Given the description of an element on the screen output the (x, y) to click on. 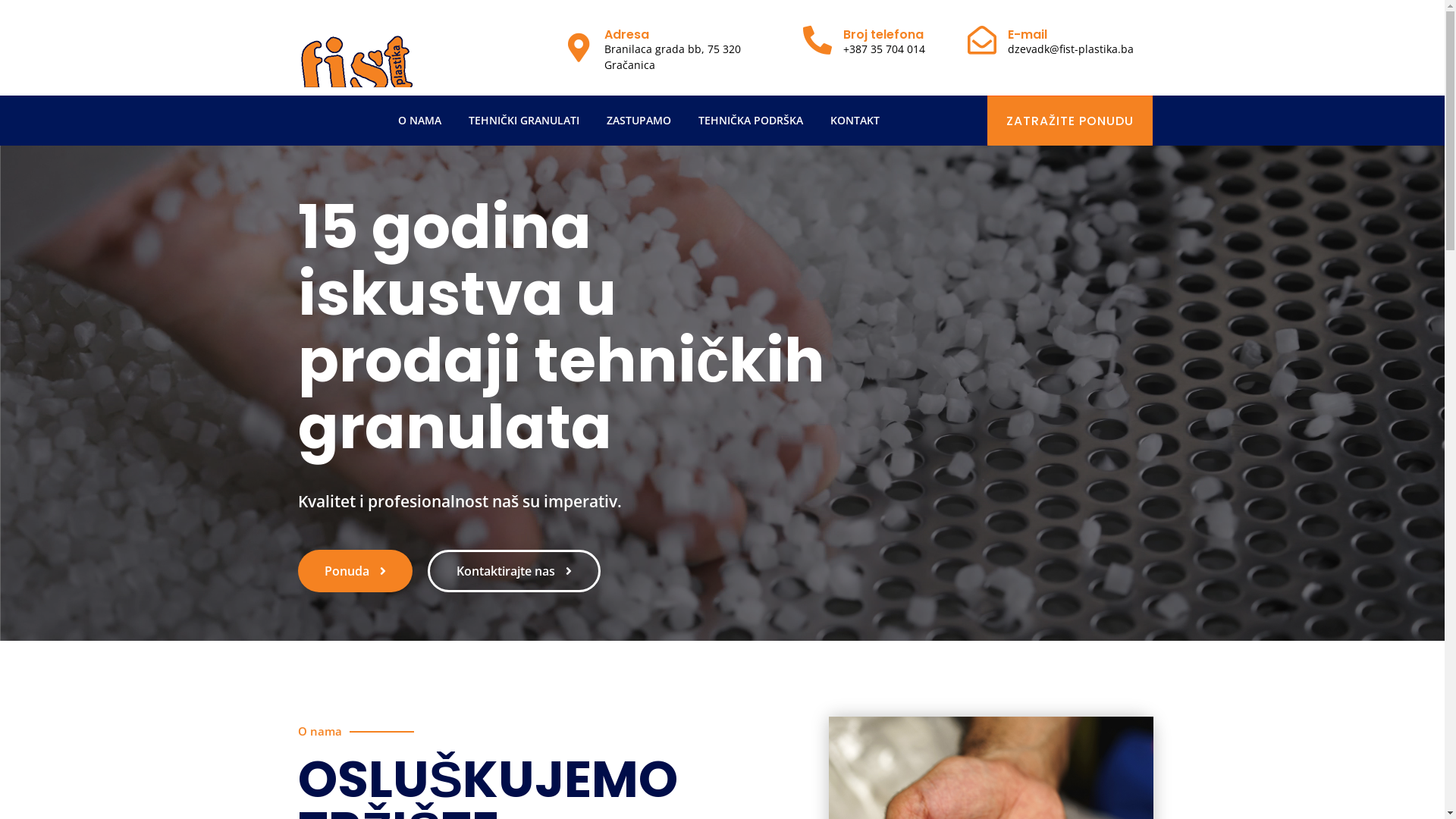
KONTAKT Element type: text (854, 120)
Kontaktirajte nas Element type: text (513, 570)
Ponuda Element type: text (354, 570)
ZASTUPAMO Element type: text (638, 120)
O NAMA Element type: text (419, 120)
